Given the description of an element on the screen output the (x, y) to click on. 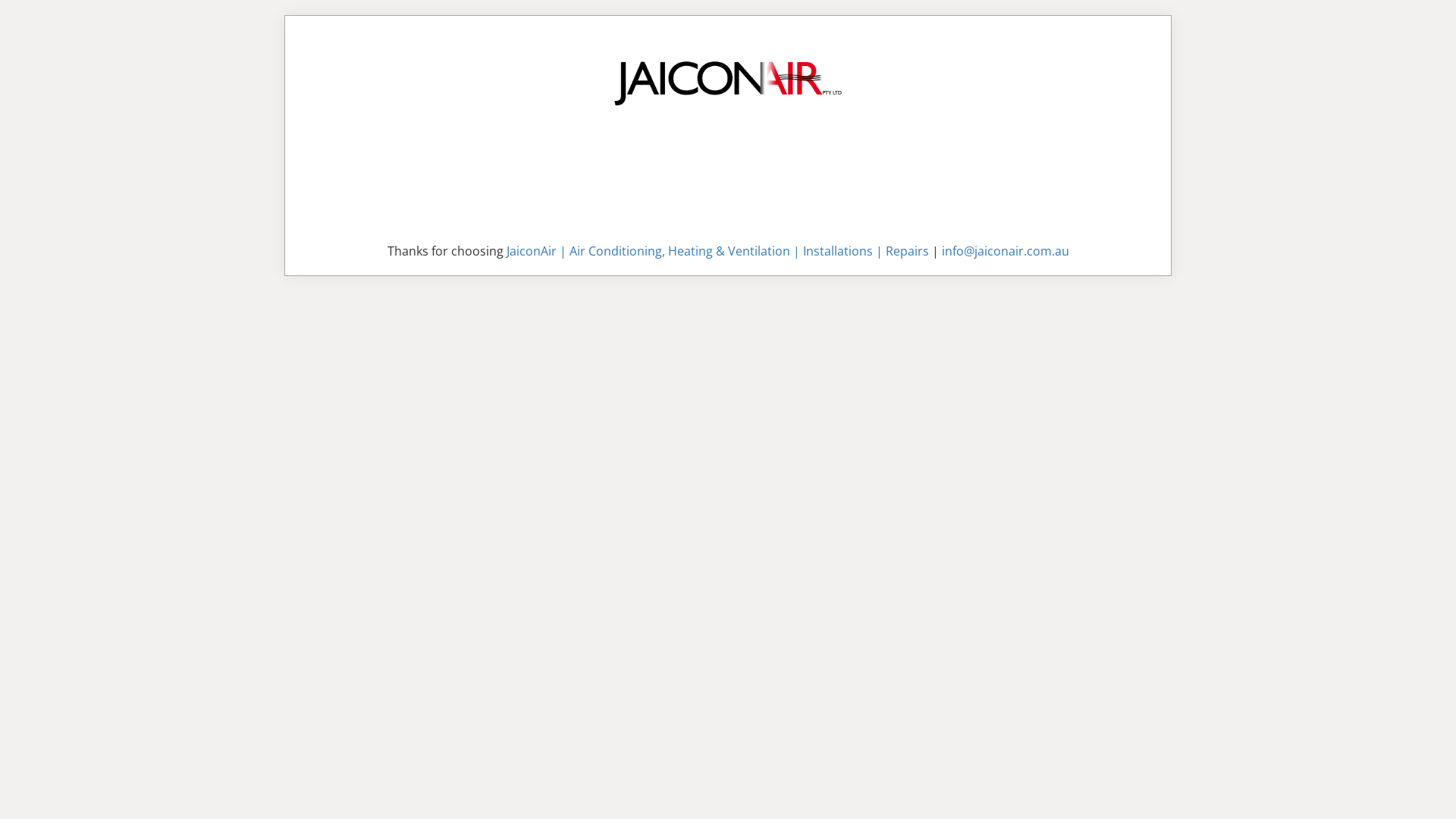
info@jaiconair.com.au Element type: text (1005, 250)
